Given the description of an element on the screen output the (x, y) to click on. 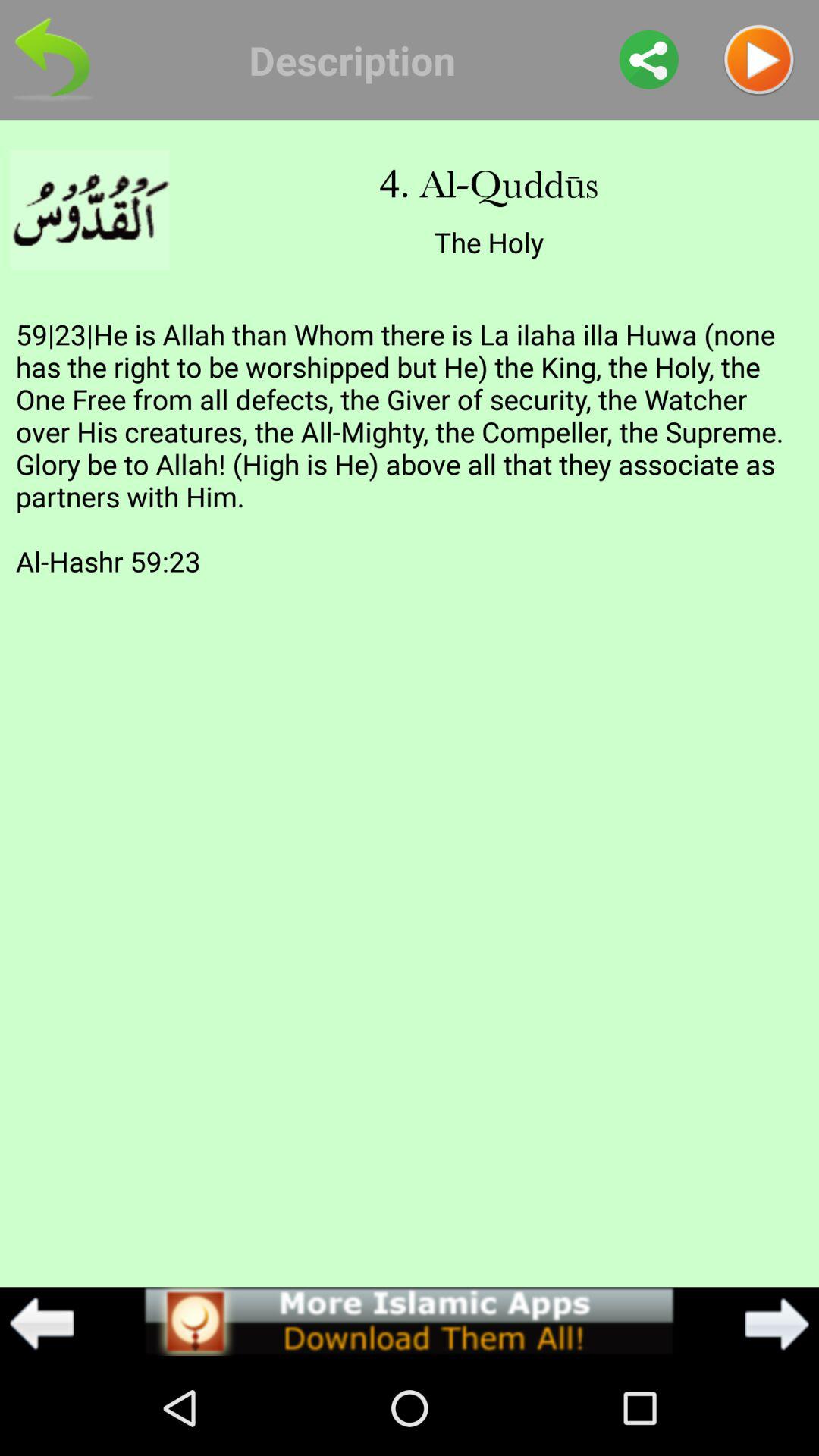
turn on the icon at the bottom (408, 1321)
